Given the description of an element on the screen output the (x, y) to click on. 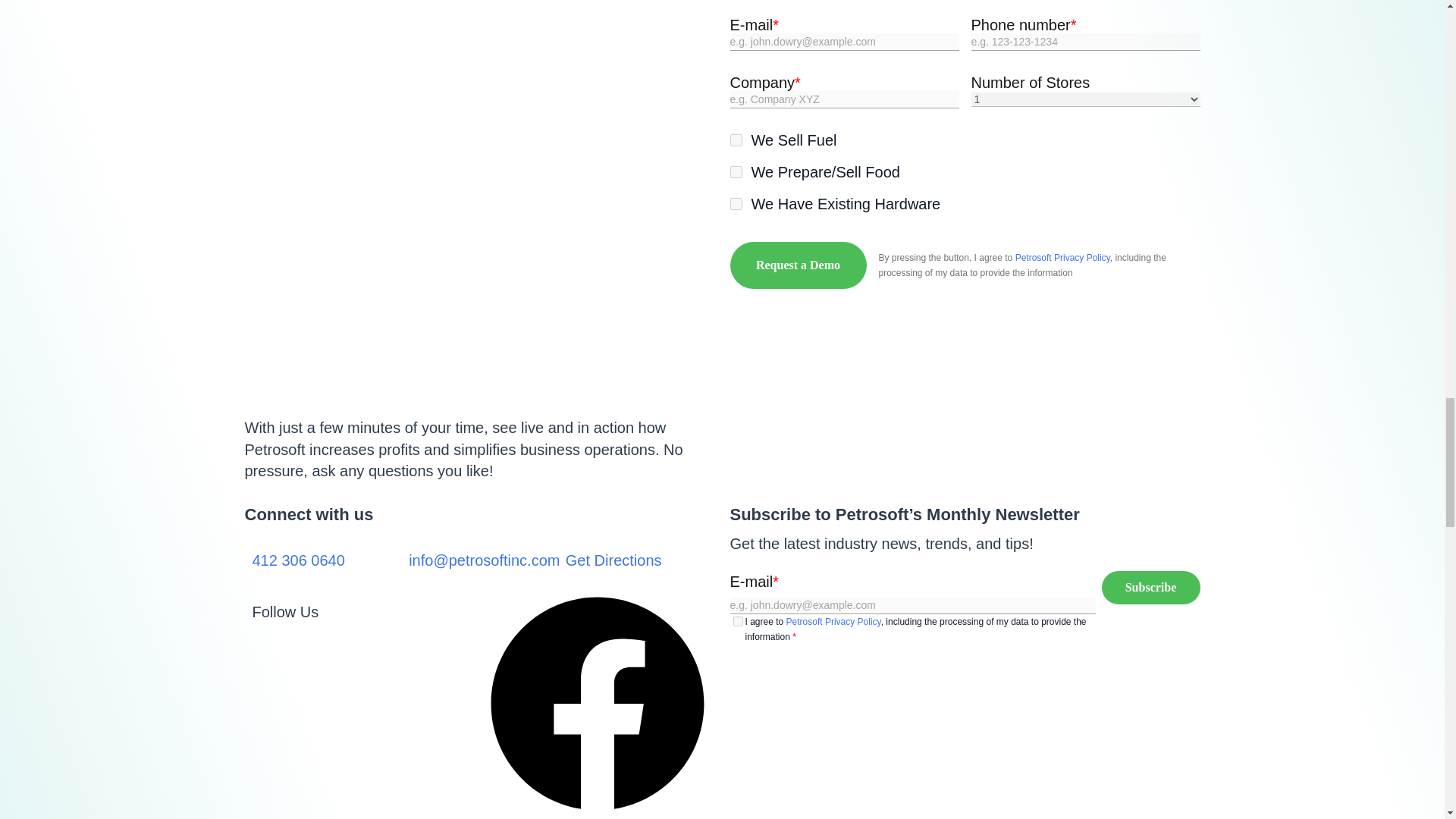
on (735, 140)
on (737, 621)
on (735, 203)
on (735, 172)
